Given the description of an element on the screen output the (x, y) to click on. 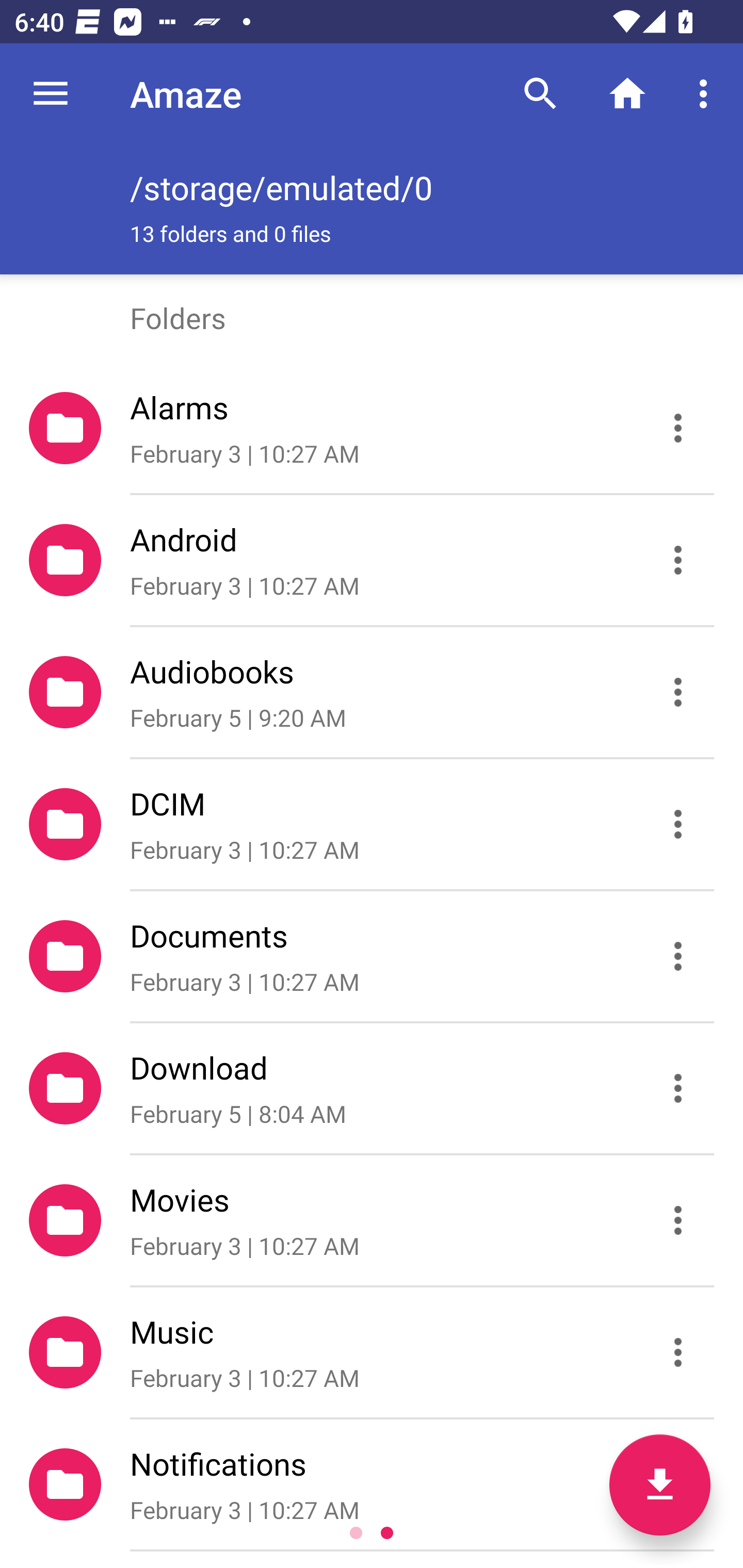
Navigate up (50, 93)
Search (540, 93)
Home (626, 93)
More options (706, 93)
Alarms February 3 | 10:27 AM (371, 427)
Android February 3 | 10:27 AM (371, 560)
Audiobooks February 5 | 9:20 AM (371, 692)
DCIM February 3 | 10:27 AM (371, 823)
Documents February 3 | 10:27 AM (371, 955)
Download February 5 | 8:04 AM (371, 1088)
Movies February 3 | 10:27 AM (371, 1220)
Music February 3 | 10:27 AM (371, 1352)
Notifications February 3 | 10:27 AM (371, 1484)
